Given the description of an element on the screen output the (x, y) to click on. 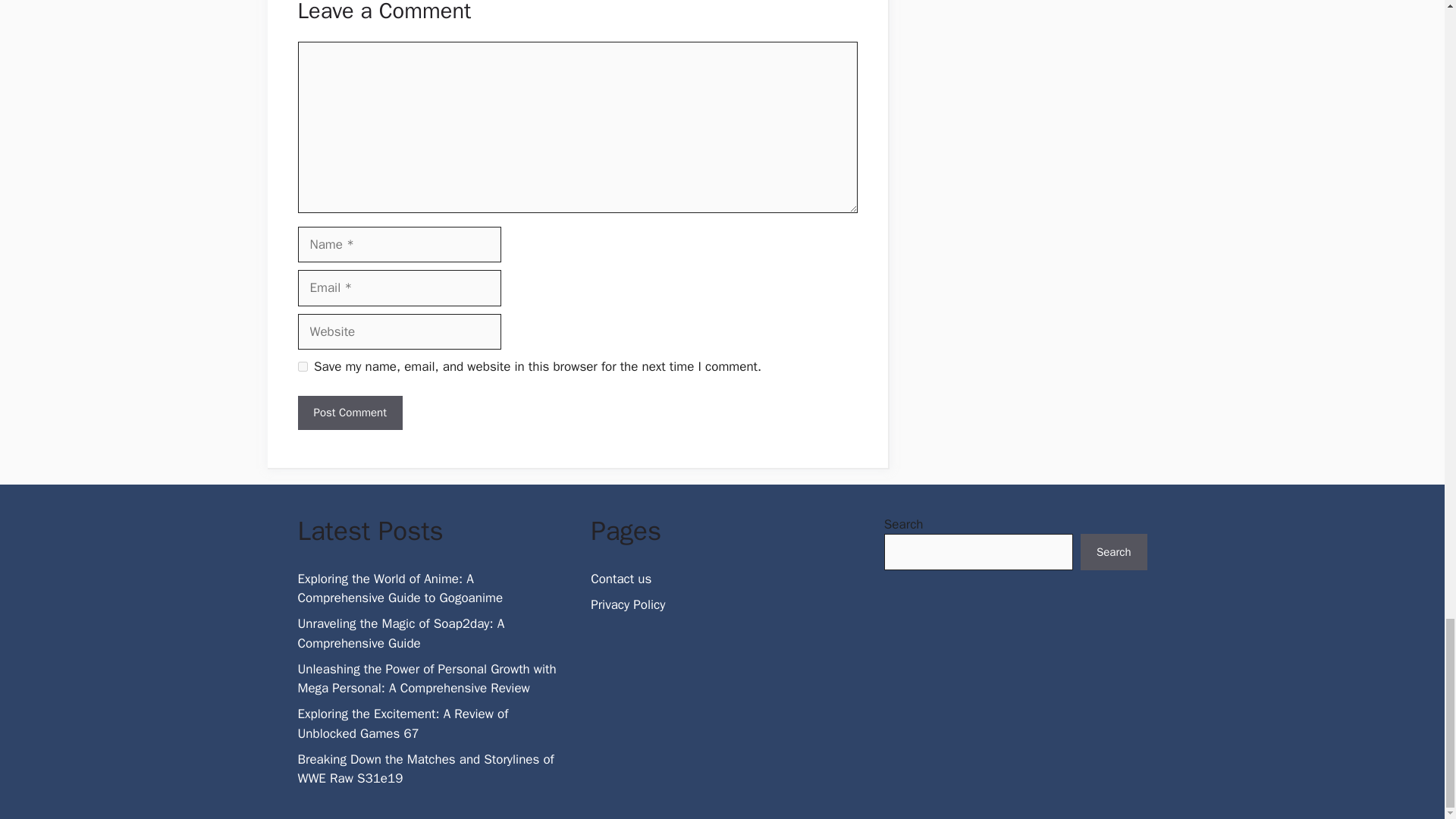
Search (1113, 551)
yes (302, 366)
Unraveling the Magic of Soap2day: A Comprehensive Guide (400, 633)
Contact us (620, 578)
Breaking Down the Matches and Storylines of WWE Raw S31e19 (425, 769)
Privacy Policy (628, 604)
Exploring the Excitement: A Review of Unblocked Games 67 (402, 723)
Post Comment (349, 412)
Post Comment (349, 412)
